Given the description of an element on the screen output the (x, y) to click on. 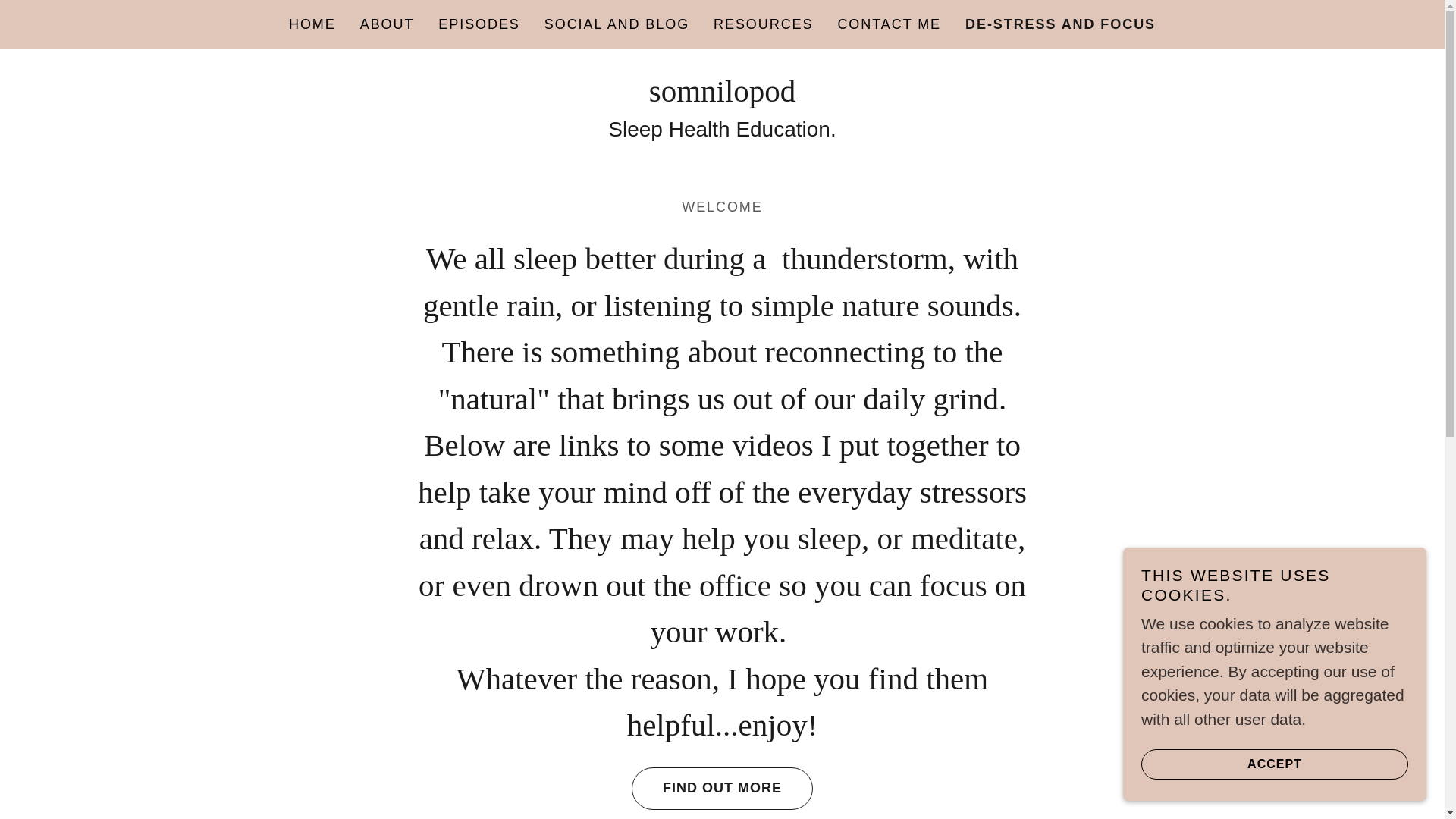
somnilopod (722, 95)
ABOUT (387, 23)
EPISODES (478, 23)
DE-STRESS AND FOCUS (1060, 24)
ACCEPT (1274, 764)
HOME (311, 23)
FIND OUT MORE (721, 788)
RESOURCES (762, 23)
somnilopod (722, 95)
CONTACT ME (888, 23)
